Given the description of an element on the screen output the (x, y) to click on. 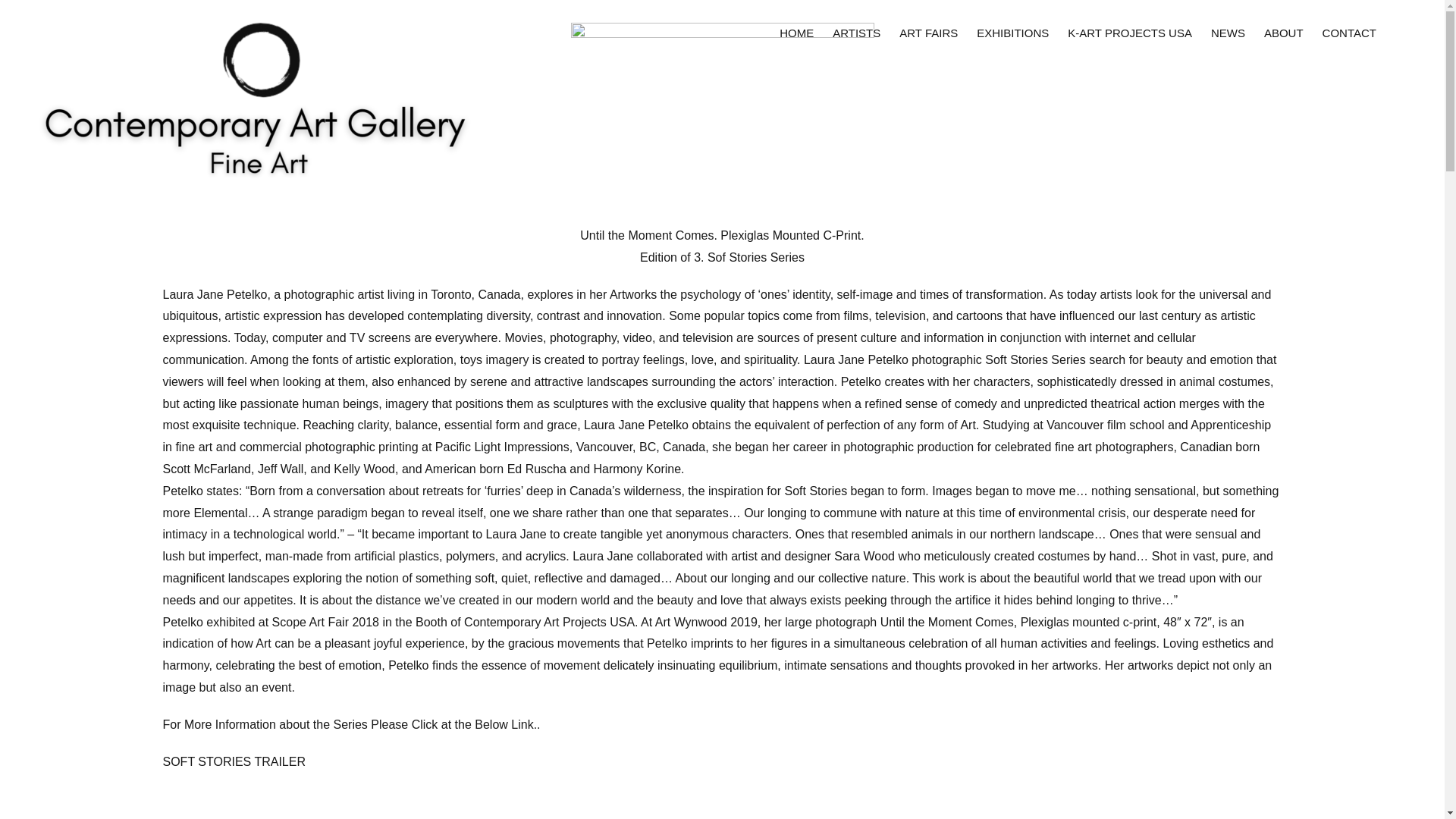
K-ART PROJECTS USA (1129, 31)
ART FAIRS (928, 31)
EXHIBITIONS (1012, 31)
